Given the description of an element on the screen output the (x, y) to click on. 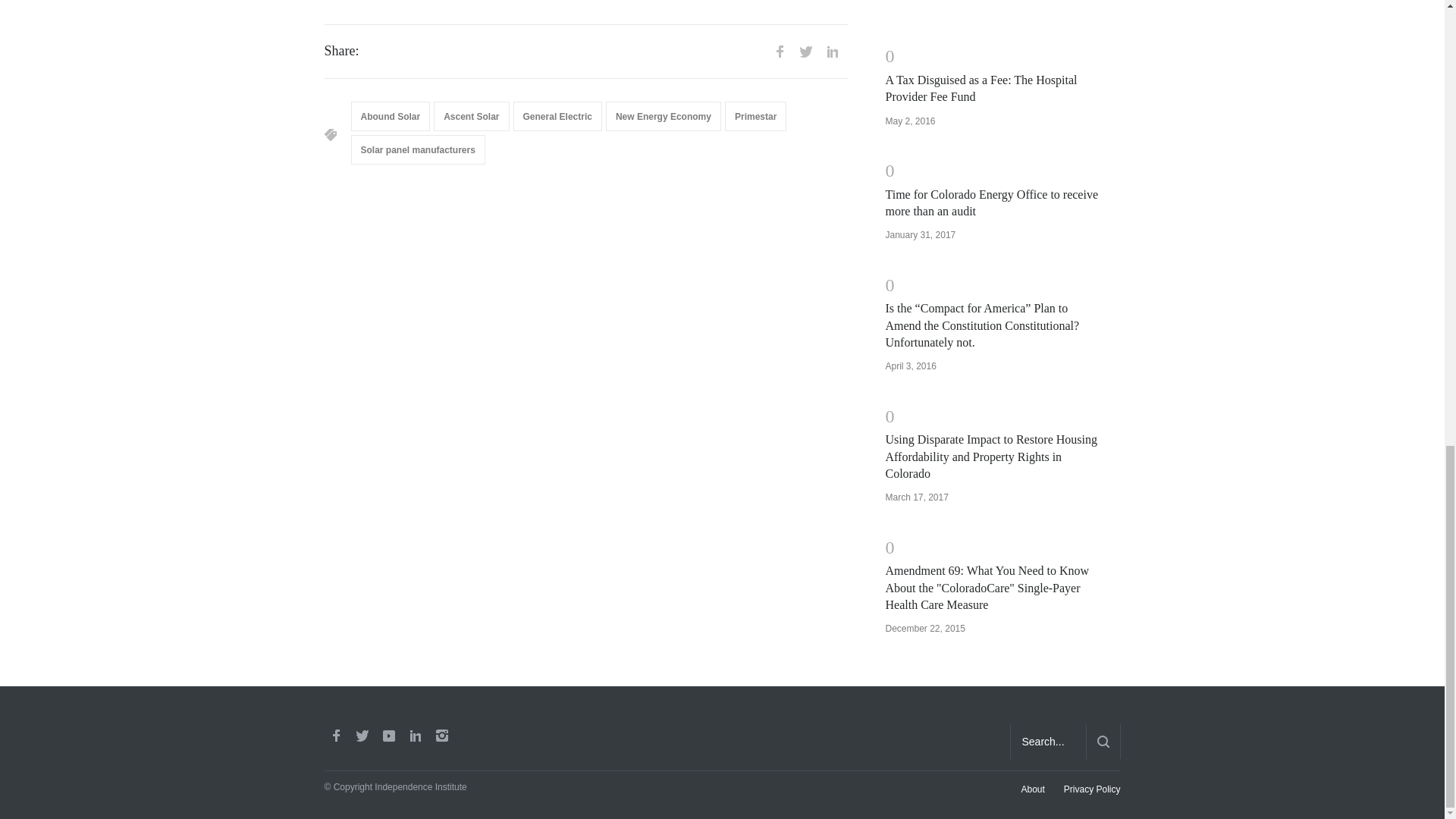
Search... (1048, 741)
Search... (1048, 741)
